Given the description of an element on the screen output the (x, y) to click on. 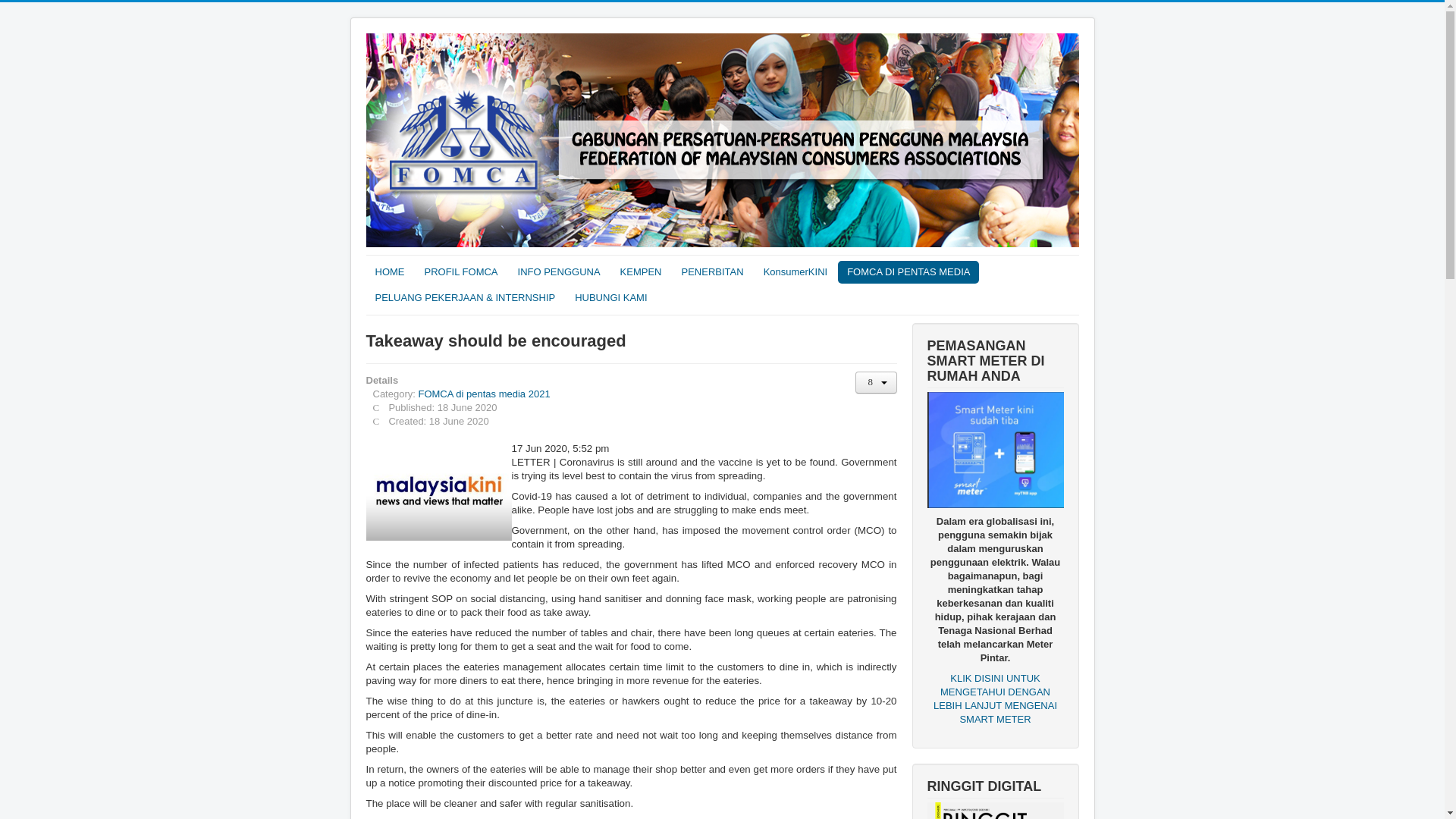
FOMCA DI PENTAS MEDIA (908, 272)
INFO PENGGUNA (559, 272)
PROFIL FOMCA (460, 272)
HOME (389, 272)
KEMPEN (641, 272)
KonsumerKINI (795, 272)
PENERBITAN (712, 272)
